Given the description of an element on the screen output the (x, y) to click on. 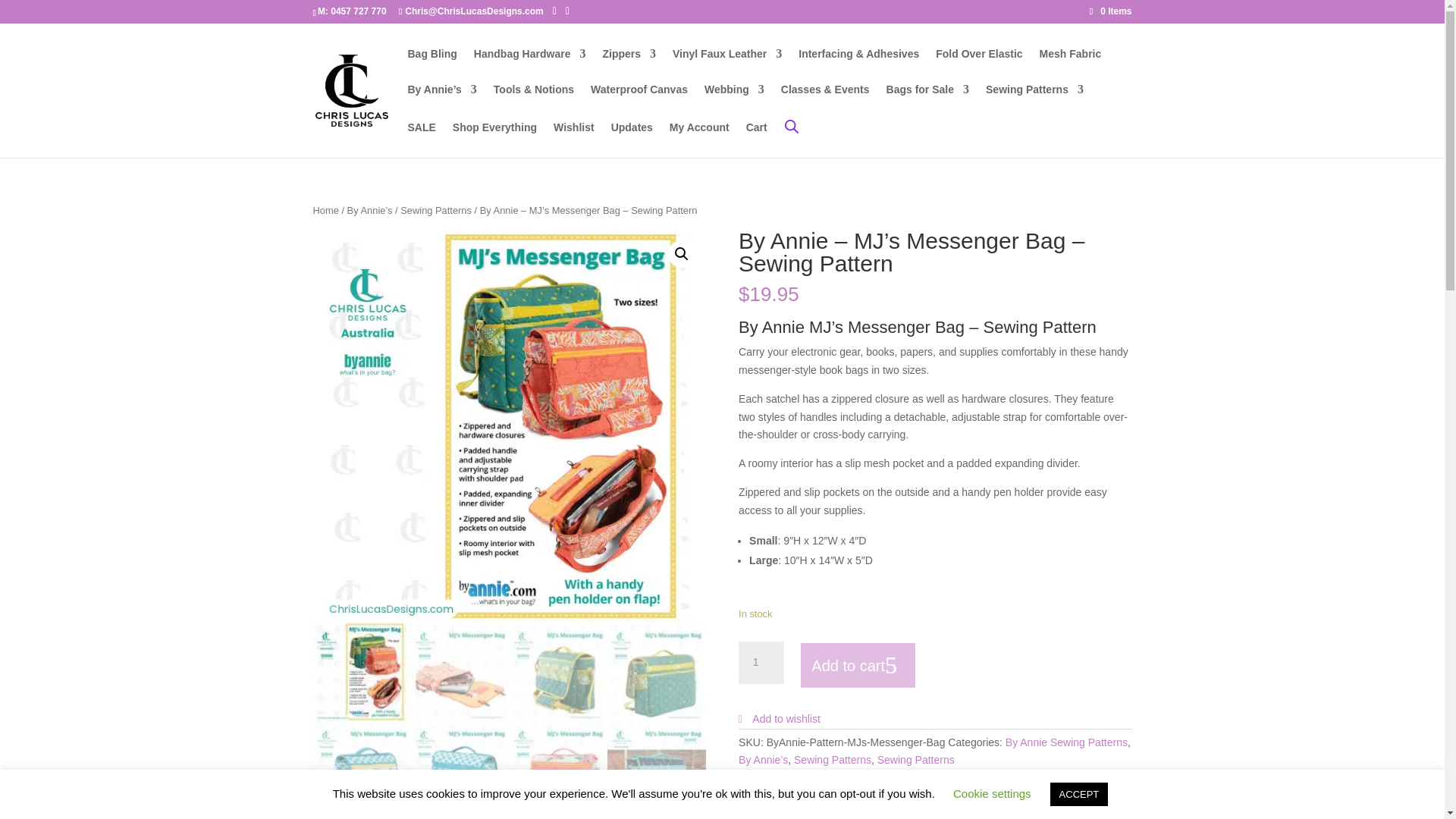
0 Items (1110, 10)
Handbag Hardware (530, 66)
Bag Bling (432, 66)
1 (761, 662)
